Given the description of an element on the screen output the (x, y) to click on. 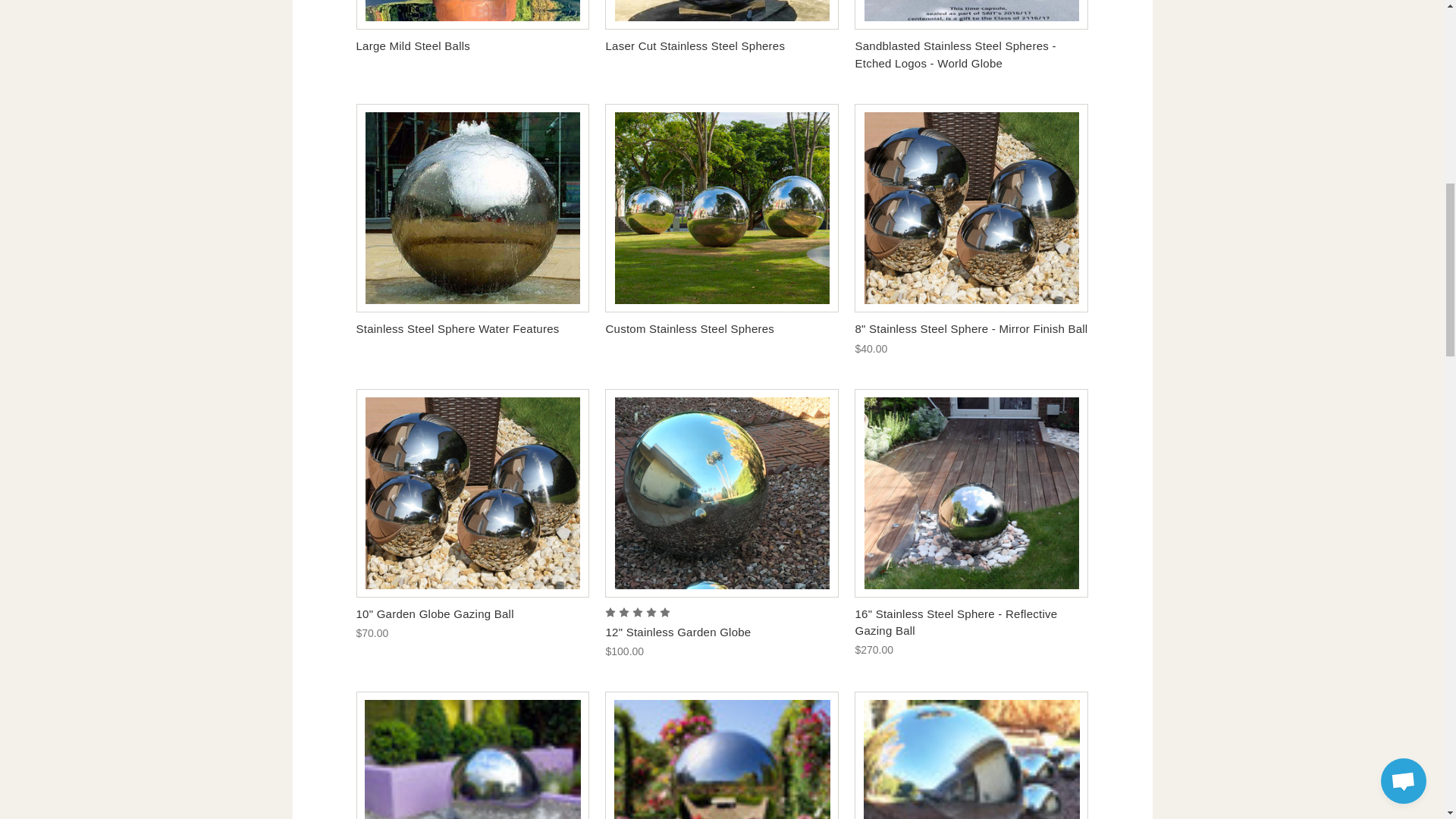
Large Stainless Steel Sphere Water Feature Fountain (472, 208)
Gazing ball on pedestal - mirrored stainless steel (721, 755)
Giant Custom Stainless Steel Spheres in Park (721, 208)
Large Mild Steel Balls (472, 14)
